Given the description of an element on the screen output the (x, y) to click on. 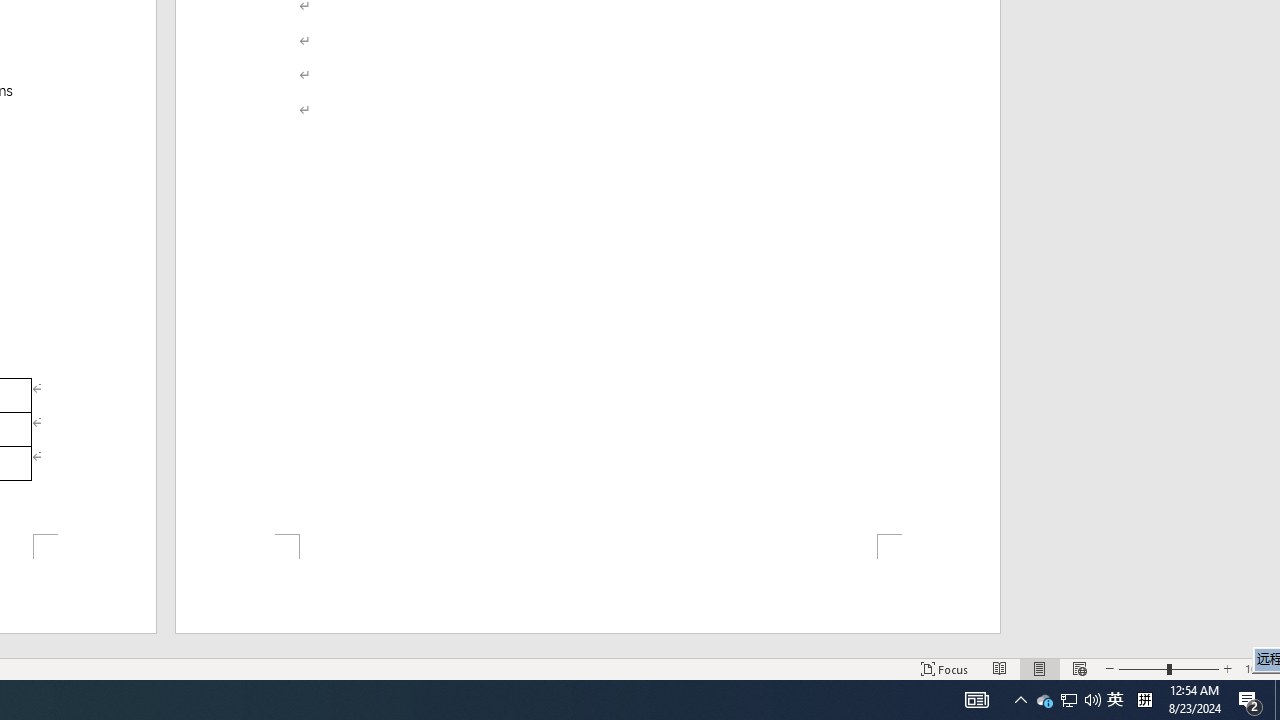
Zoom 104% (1258, 668)
